Given the description of an element on the screen output the (x, y) to click on. 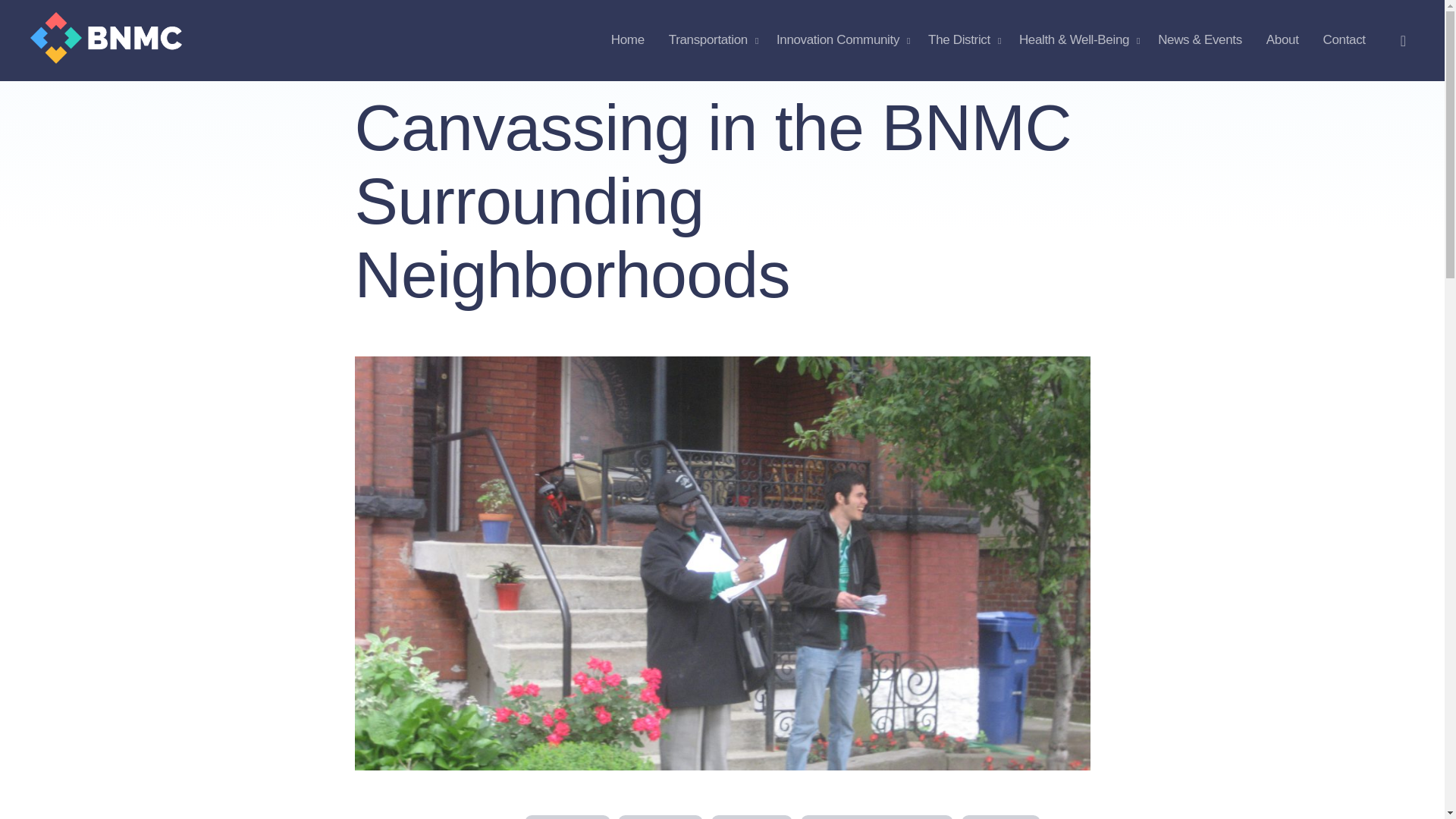
Transportation (710, 39)
Home (627, 39)
BNMC (68, 39)
Innovation Community (839, 39)
About (1282, 39)
Contact (1344, 39)
The District (961, 39)
